Given the description of an element on the screen output the (x, y) to click on. 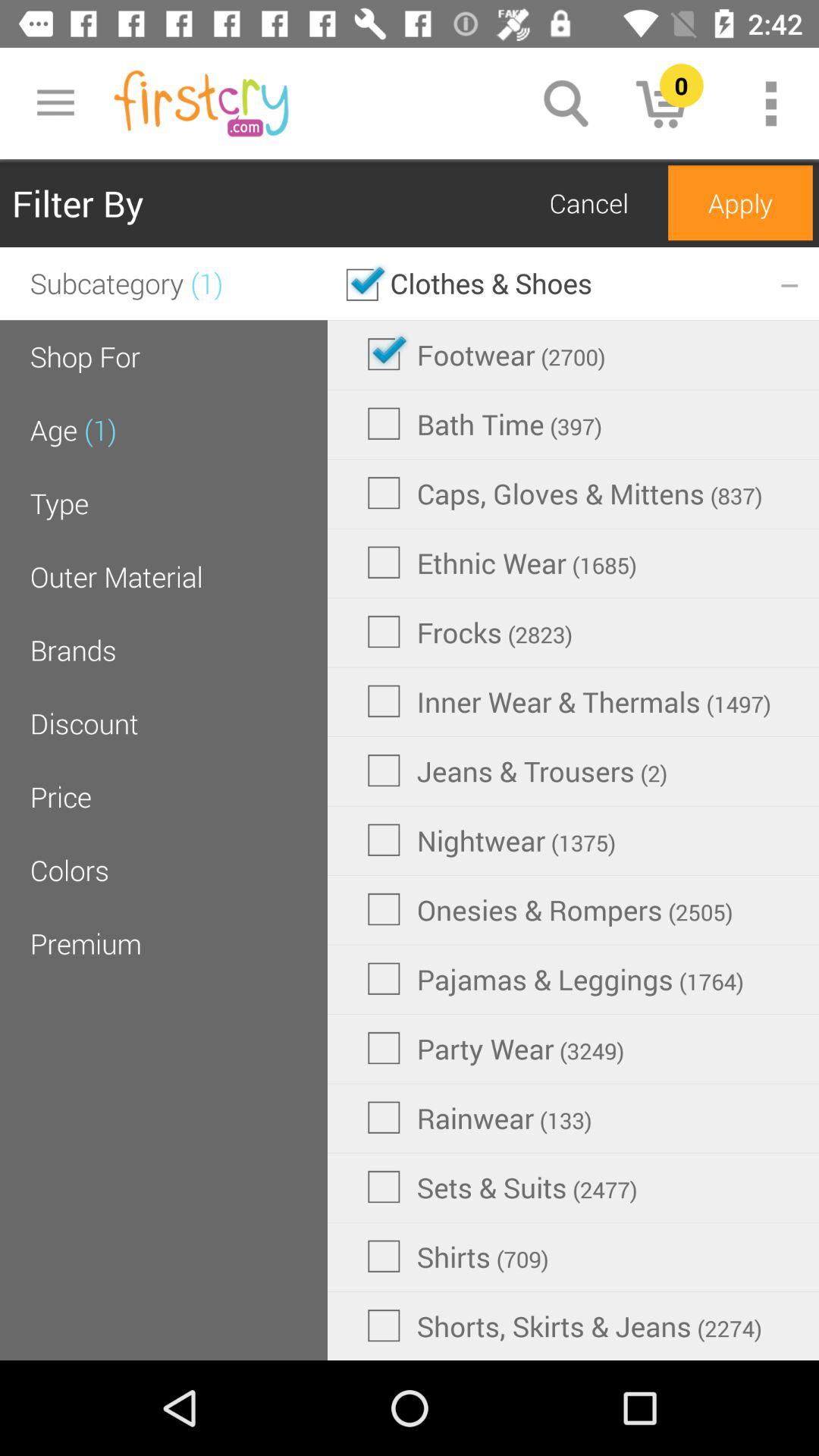
flip to the brands item (73, 649)
